Given the description of an element on the screen output the (x, y) to click on. 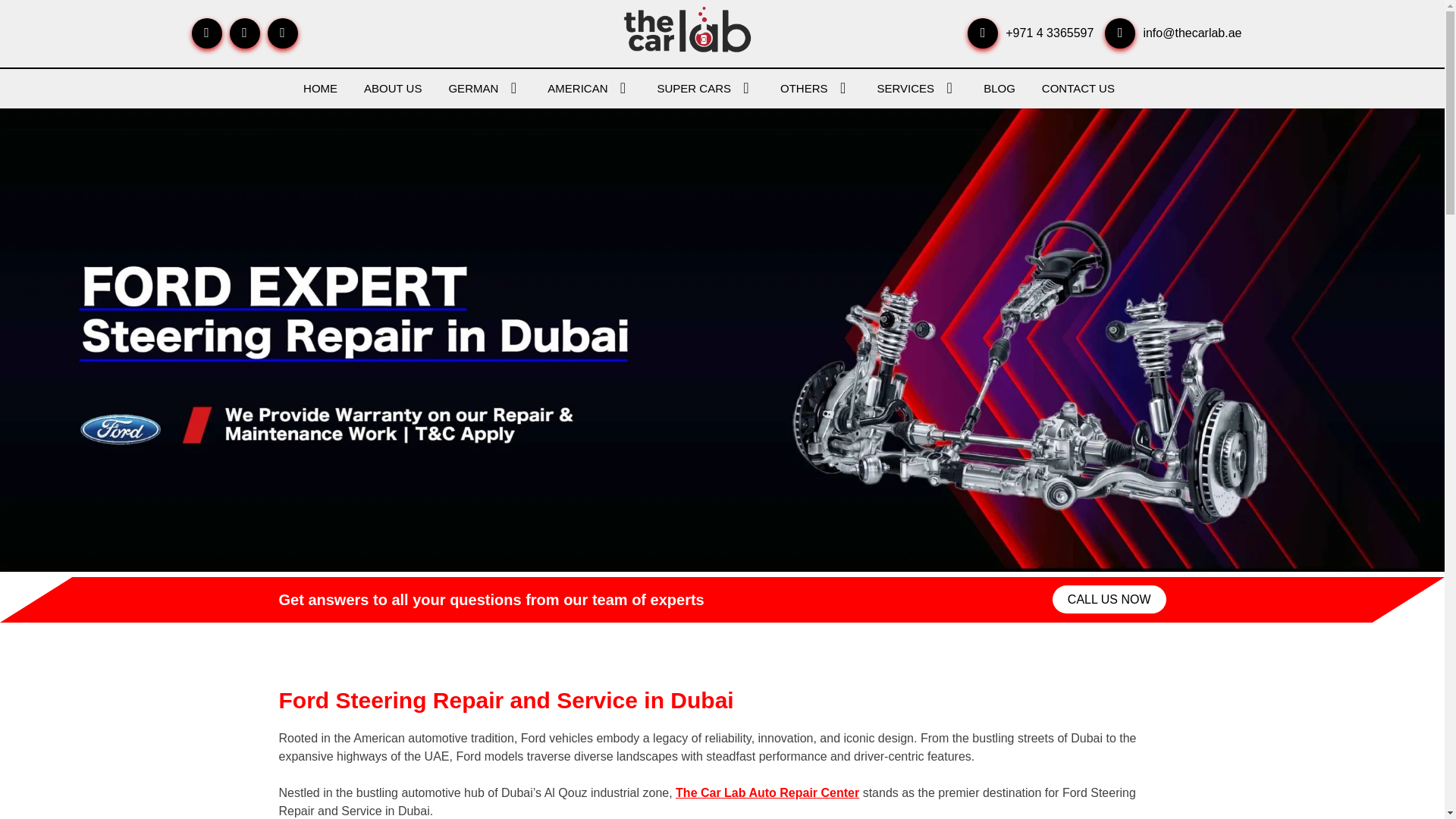
GERMAN (484, 88)
HOME (319, 88)
SUPER CARS (705, 88)
ABOUT US (393, 88)
AMERICAN (588, 88)
